Given the description of an element on the screen output the (x, y) to click on. 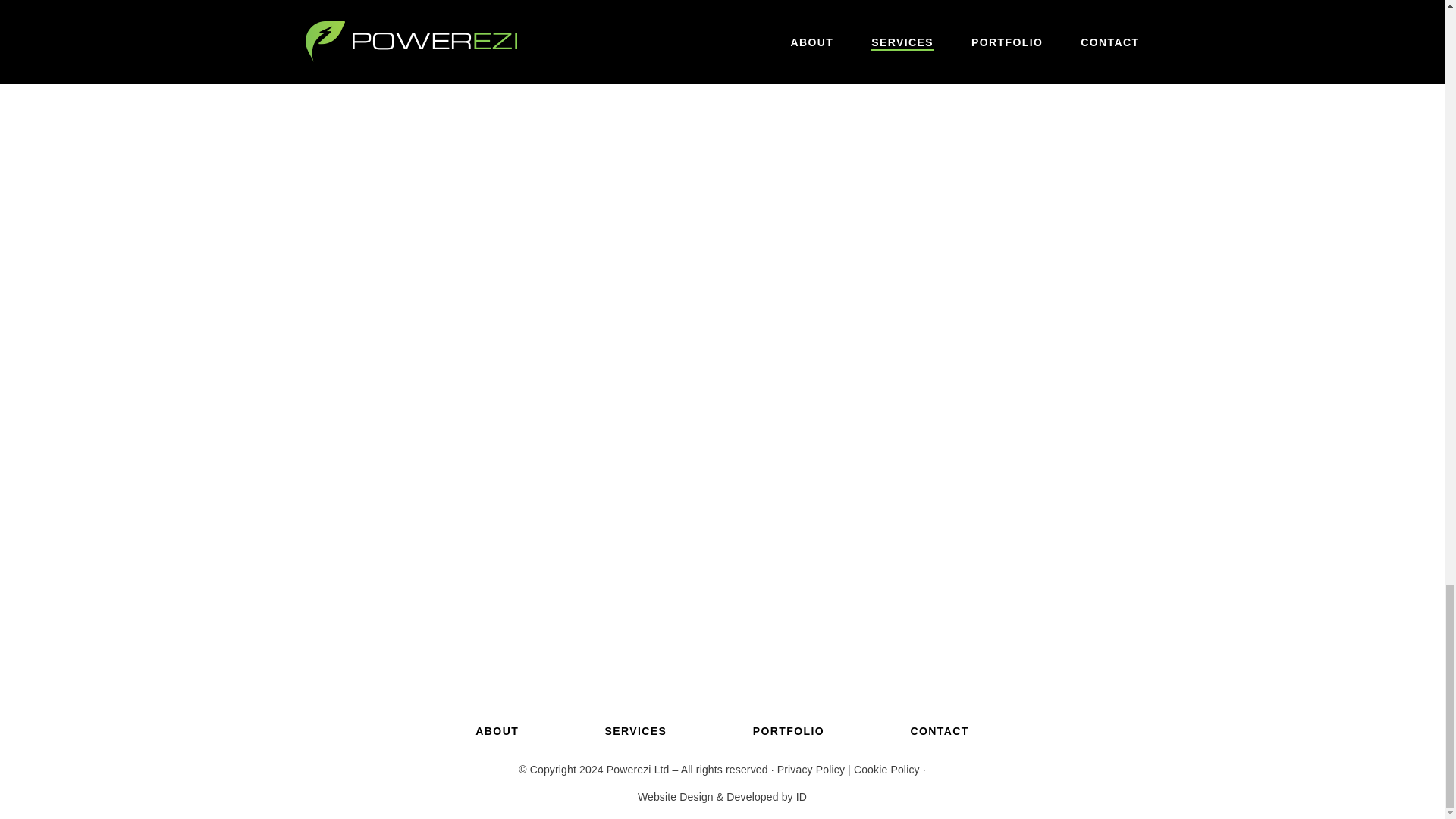
CONTACT (939, 730)
PORTFOLIO (788, 730)
ABOUT (497, 730)
Cookie Policy (886, 769)
Privacy Policy (810, 769)
SERVICES (635, 730)
